Given the description of an element on the screen output the (x, y) to click on. 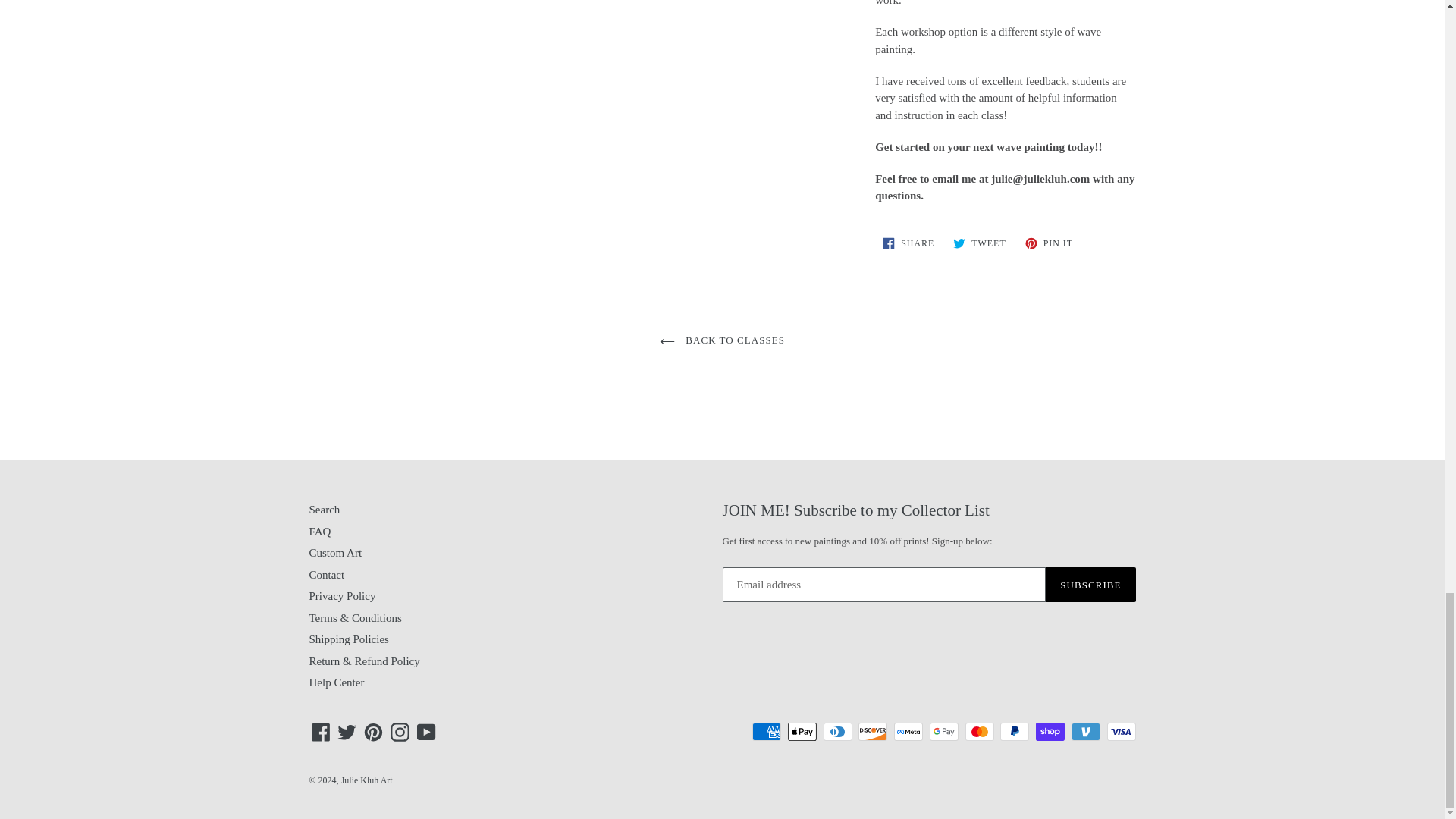
Meta Pay (908, 731)
Discover (872, 731)
American Express (766, 731)
Google Pay (944, 731)
Diners Club (837, 731)
Apple Pay (801, 731)
